Given the description of an element on the screen output the (x, y) to click on. 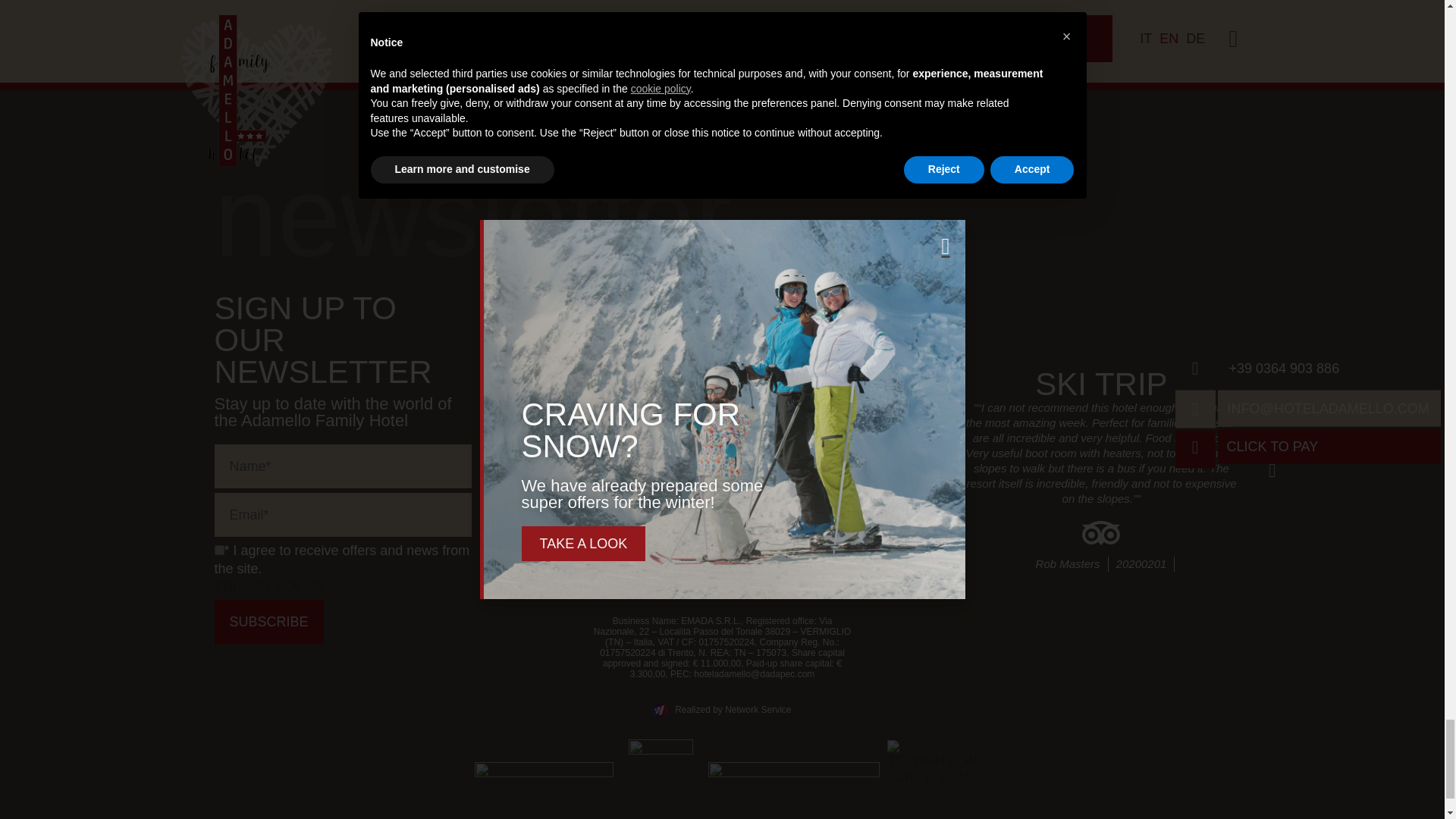
Privacy Policy  (270, 586)
Privacy Policy  (666, 572)
Cookie preferences (722, 590)
on (219, 550)
Cookie Policy  (780, 572)
